Given the description of an element on the screen output the (x, y) to click on. 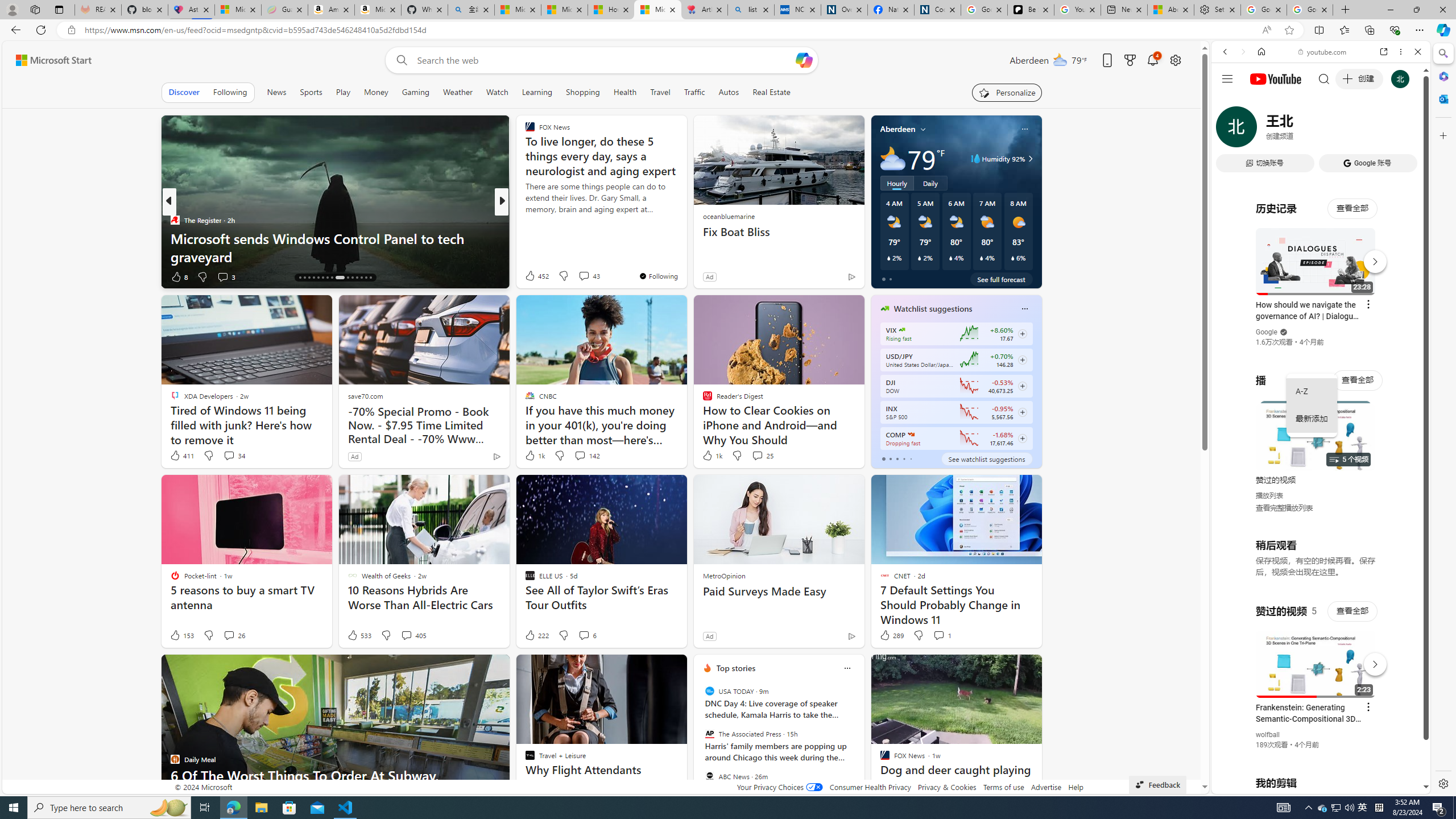
AutomationID: tab-28 (361, 277)
View comments 405 Comment (413, 634)
8 Like (178, 276)
Show More Music (1390, 310)
AutomationID: tab-22 (327, 277)
Consumer Health Privacy (870, 786)
Aberdeen, Hong Kong SAR hourly forecast | Microsoft Weather (1170, 9)
